Given the description of an element on the screen output the (x, y) to click on. 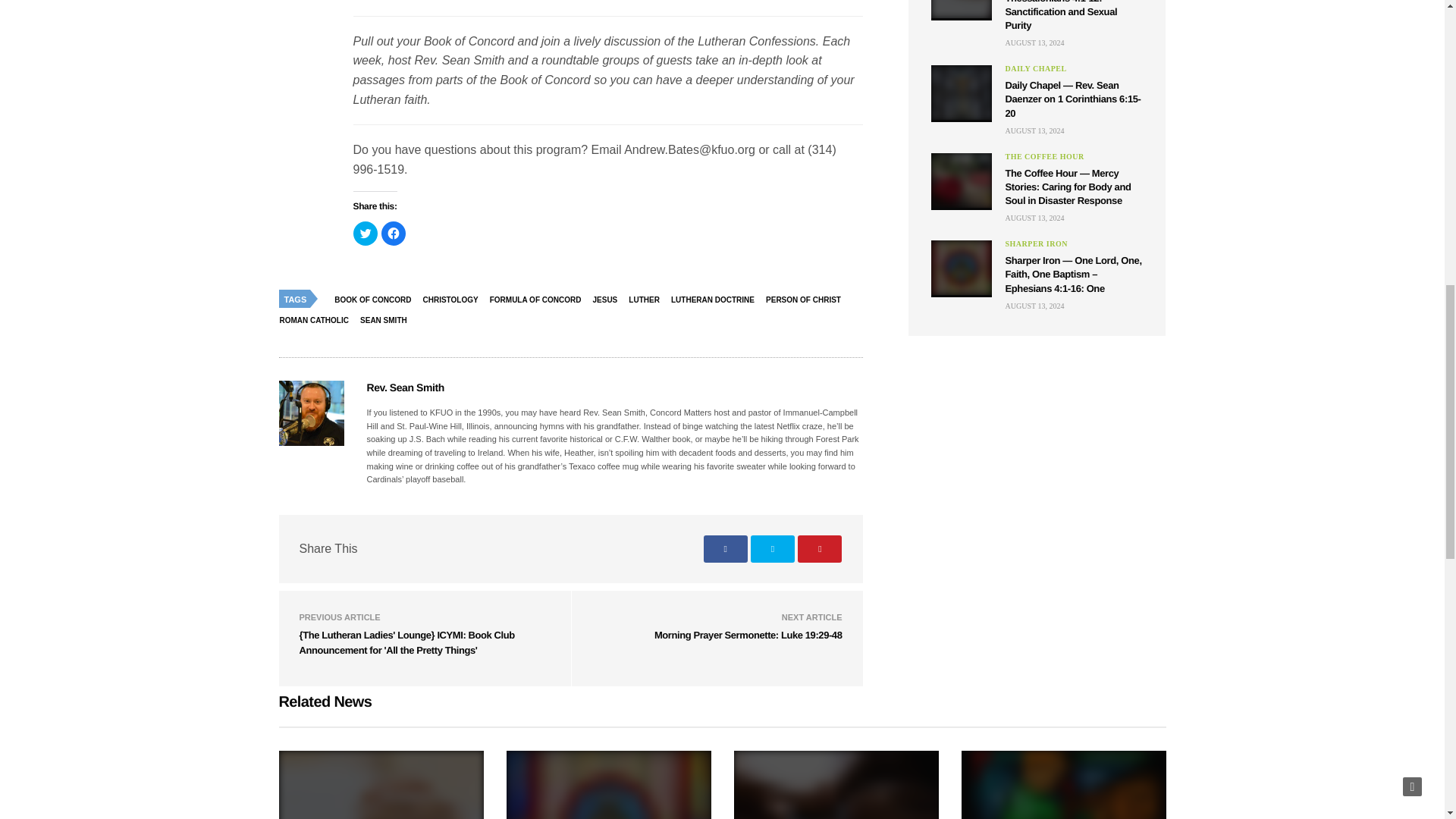
Click to share on Facebook (392, 233)
Click to share on Twitter (365, 233)
Morning Prayer Sermonette: Luke 19:29-48 (748, 634)
